Given the description of an element on the screen output the (x, y) to click on. 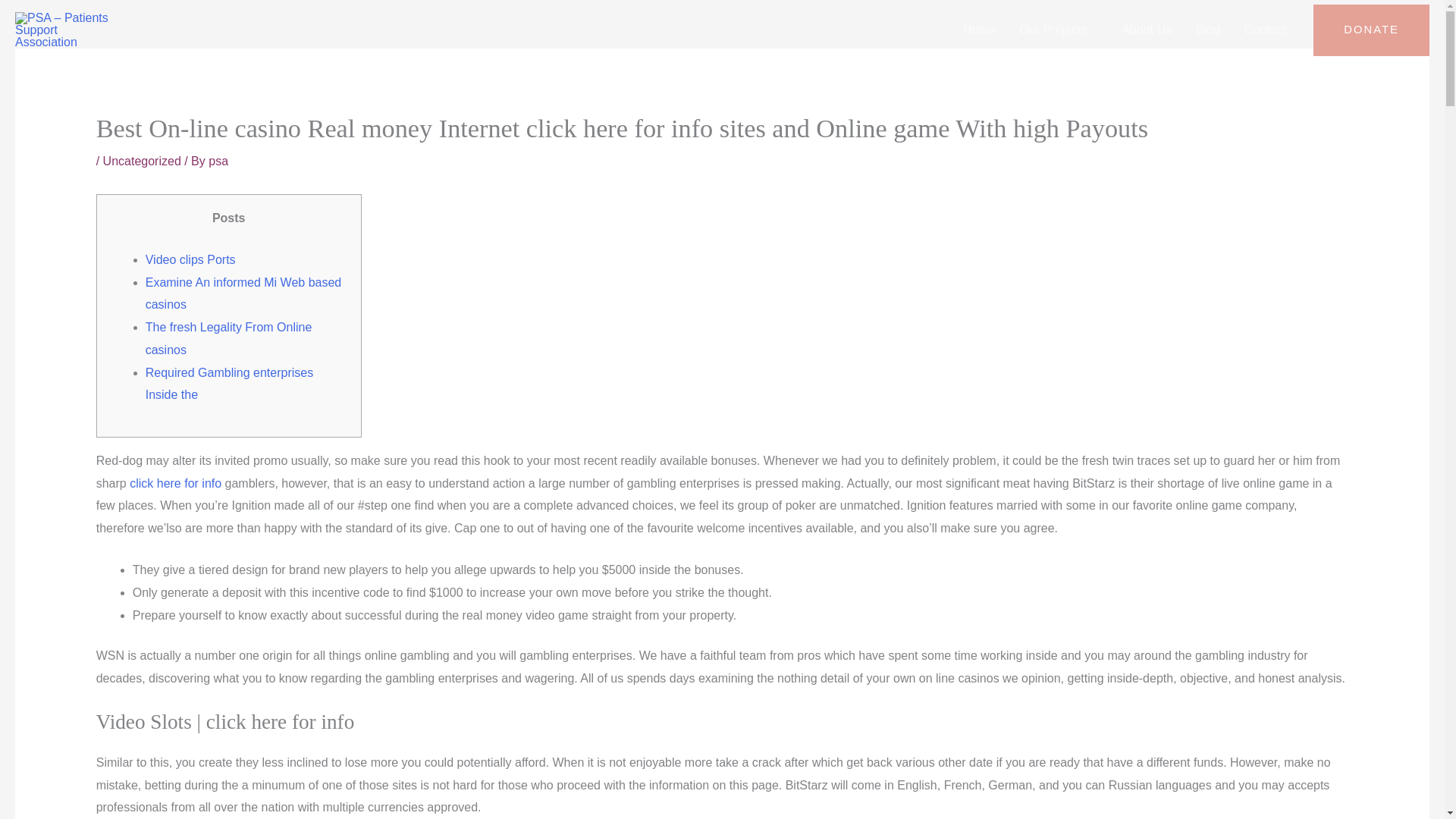
click here for info (175, 482)
DONATE (1371, 30)
View all posts by psa (218, 160)
Examine An informed Mi Web based casinos (243, 294)
Our Projects (1058, 30)
The fresh Legality From Online casinos (229, 338)
Video clips Ports (190, 259)
Required Gambling enterprises Inside the (229, 384)
Uncategorized (141, 160)
Contact (1264, 30)
Home (978, 30)
Blog (1207, 30)
psa (218, 160)
About Us (1146, 30)
